Given the description of an element on the screen output the (x, y) to click on. 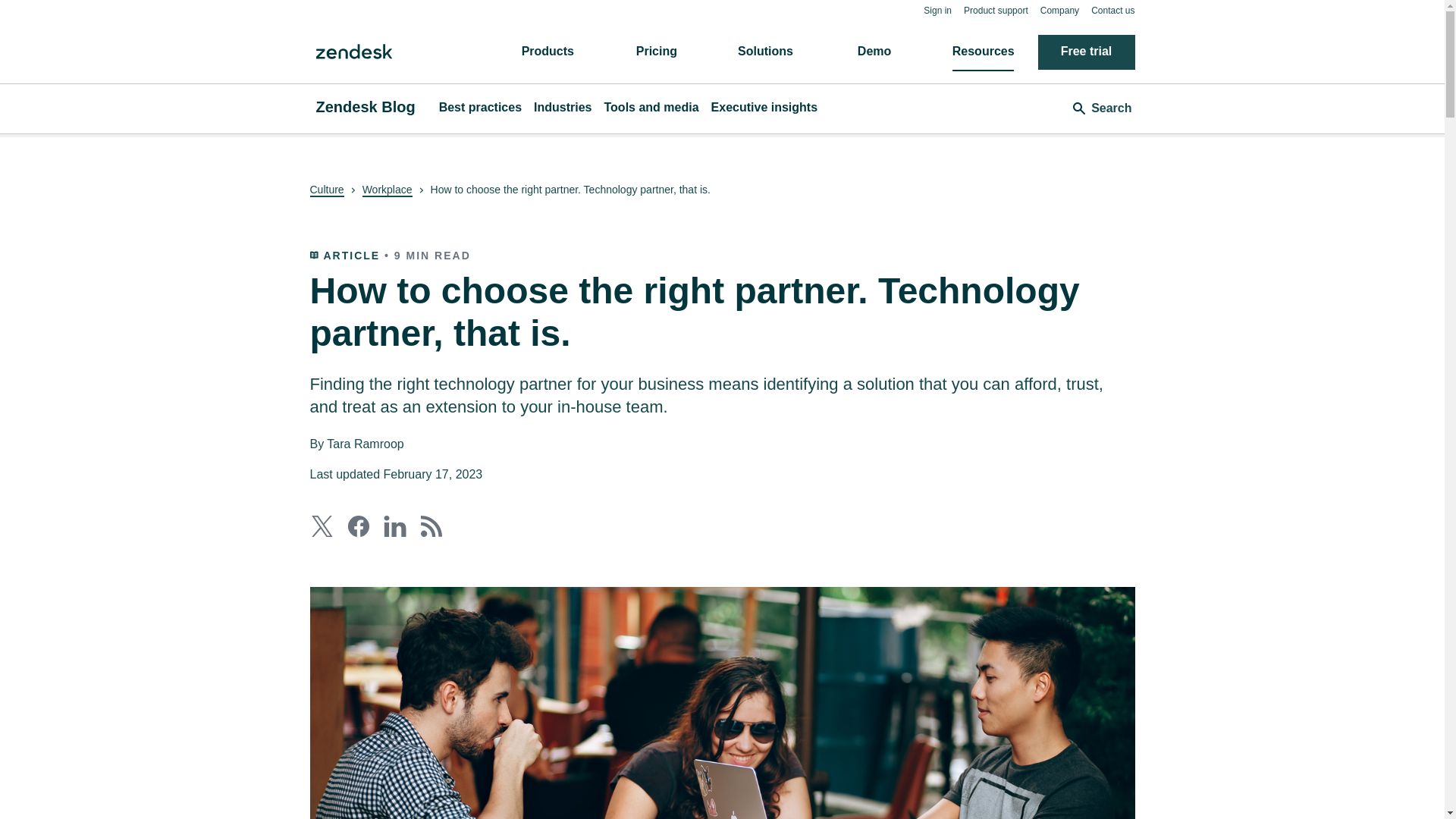
Product support (995, 9)
Contact us (1112, 9)
Company (1059, 9)
Sign in (937, 9)
